Given the description of an element on the screen output the (x, y) to click on. 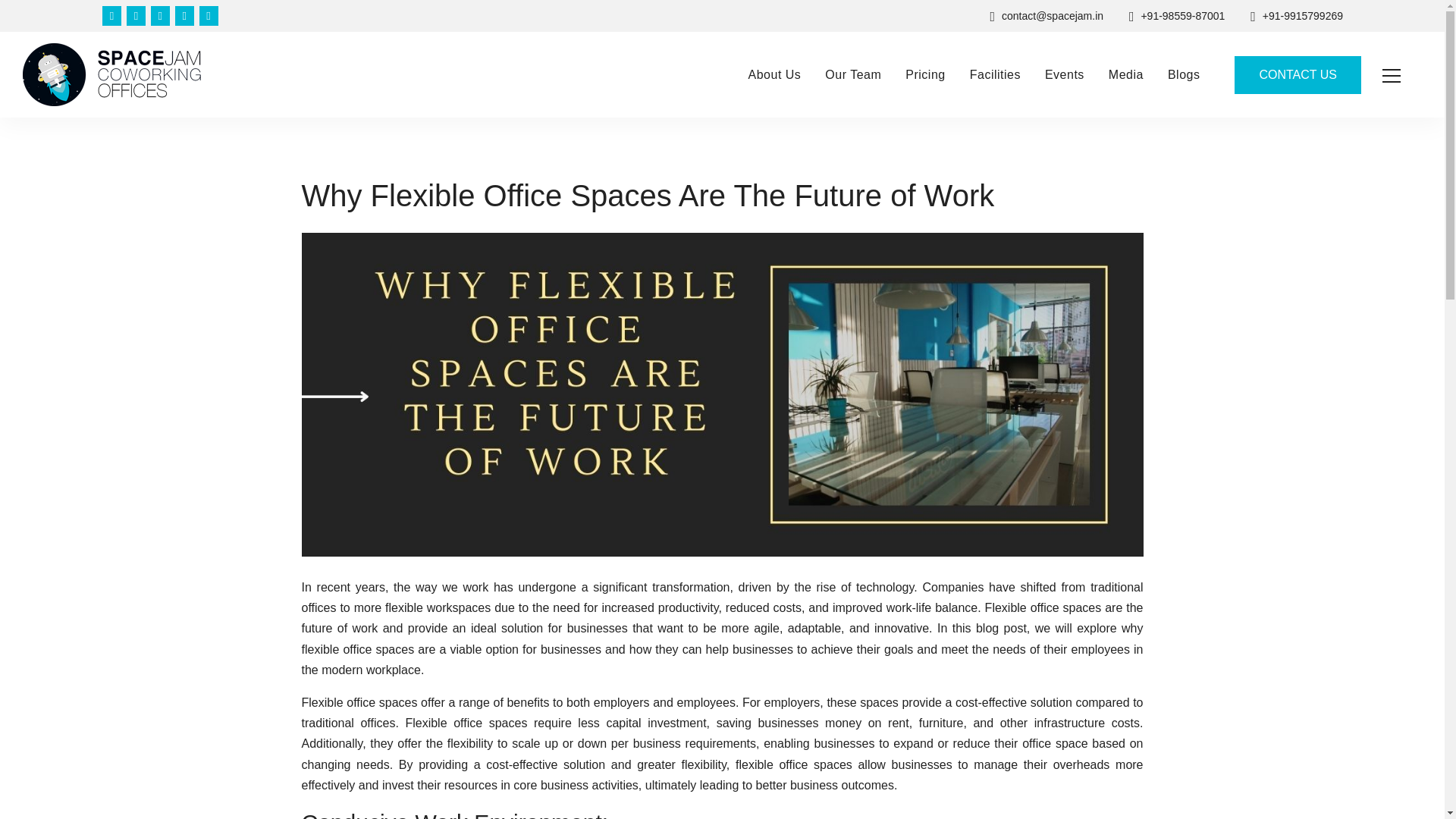
Blogs (1184, 74)
Media (1126, 74)
CONTACT US (1297, 75)
Events (1064, 74)
Our Team (852, 74)
Pricing (924, 74)
About Us (780, 74)
Facilities (995, 74)
